Given the description of an element on the screen output the (x, y) to click on. 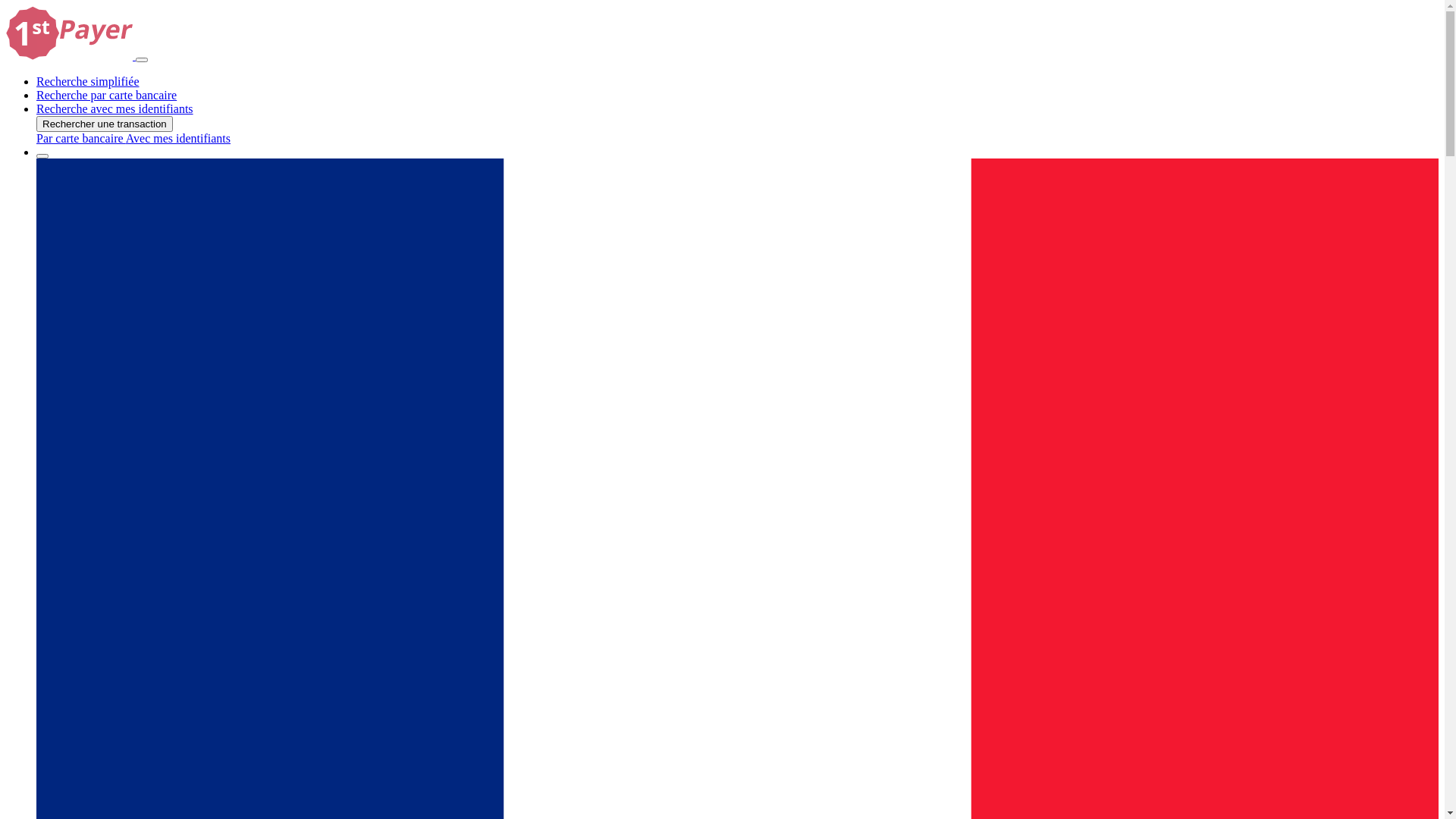
Avec mes identifiants Element type: text (177, 137)
Rechercher une transaction Element type: text (104, 123)
Par carte bancaire Element type: text (80, 137)
Recherche par carte bancaire Element type: text (106, 94)
Recherche avec mes identifiants Element type: text (114, 108)
